Given the description of an element on the screen output the (x, y) to click on. 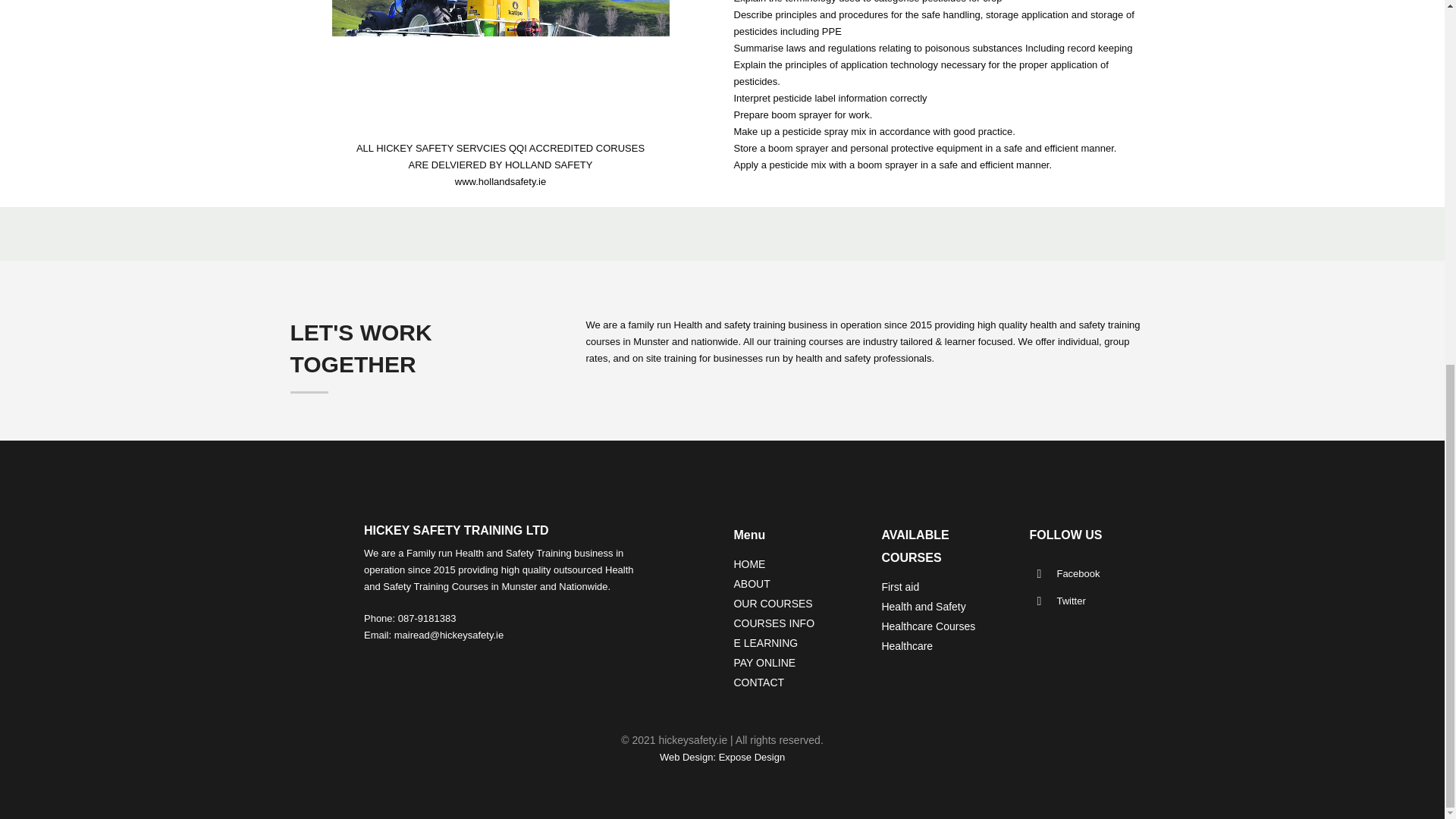
unnamed (500, 58)
